Given the description of an element on the screen output the (x, y) to click on. 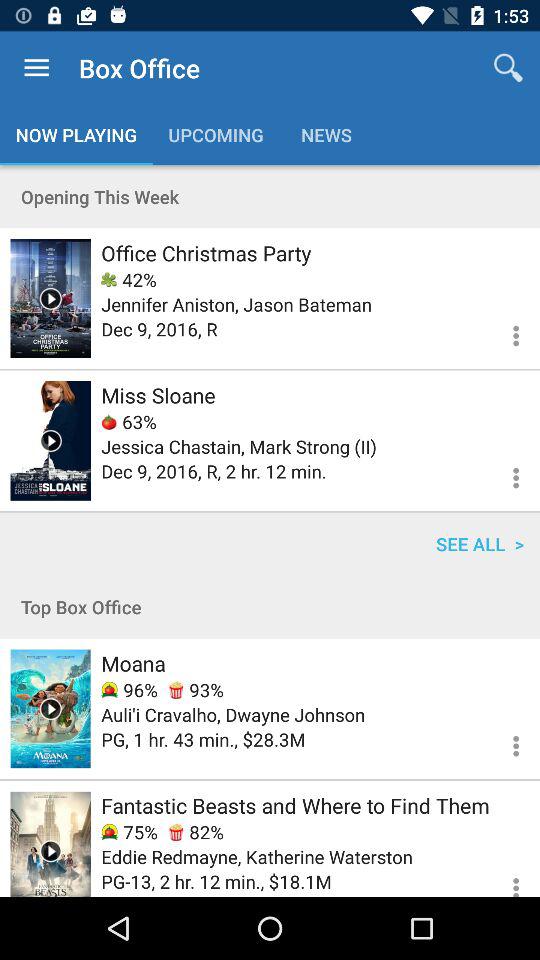
click 82% (195, 831)
